Given the description of an element on the screen output the (x, y) to click on. 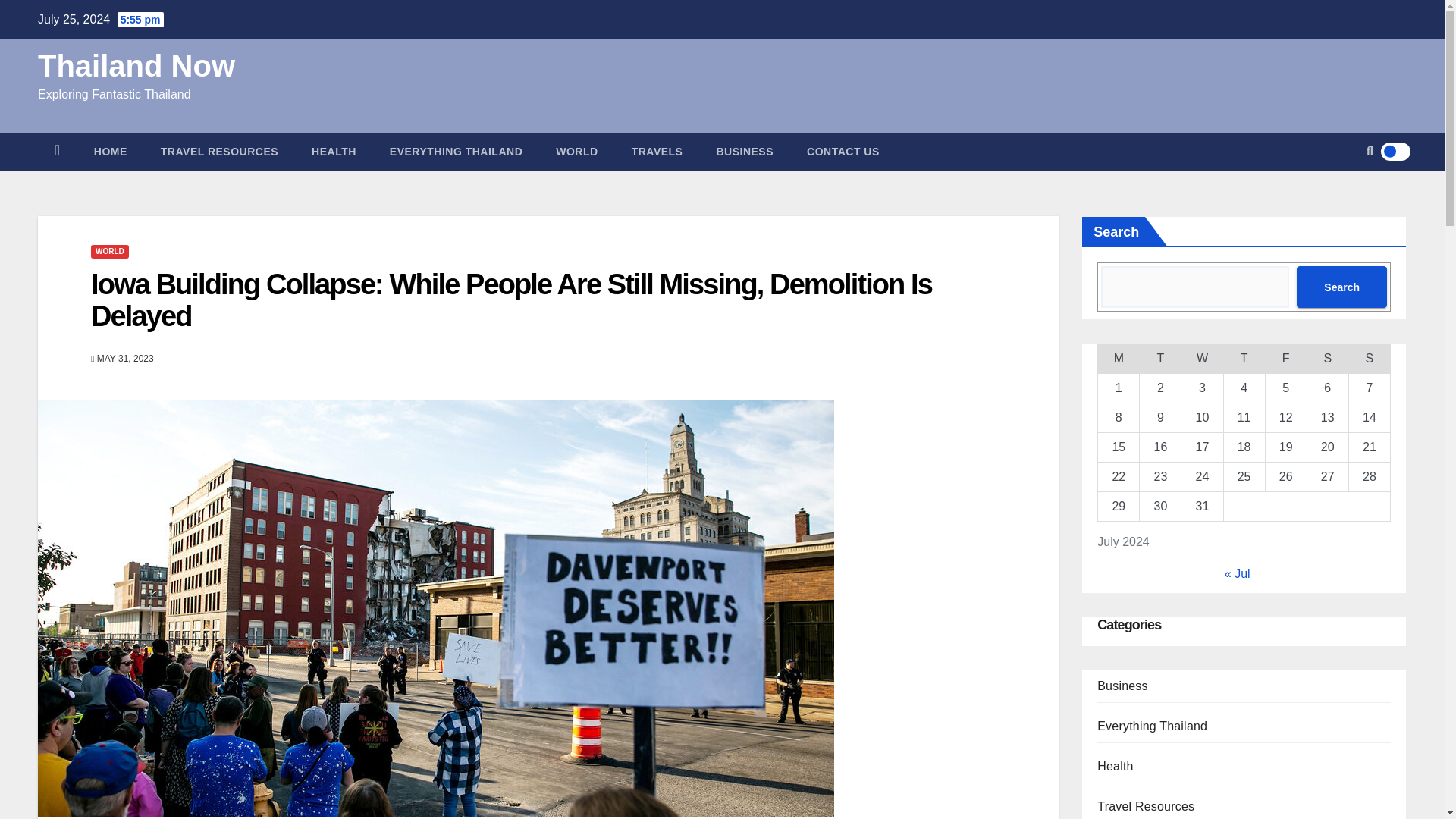
WORLD (109, 251)
Travels (657, 151)
BUSINESS (744, 151)
Travel Resources (219, 151)
Health (333, 151)
CONTACT US (843, 151)
TRAVEL RESOURCES (219, 151)
Home (110, 151)
Search (1342, 286)
Thailand Now (135, 65)
World (576, 151)
TRAVELS (657, 151)
Business (744, 151)
HEALTH (333, 151)
